Given the description of an element on the screen output the (x, y) to click on. 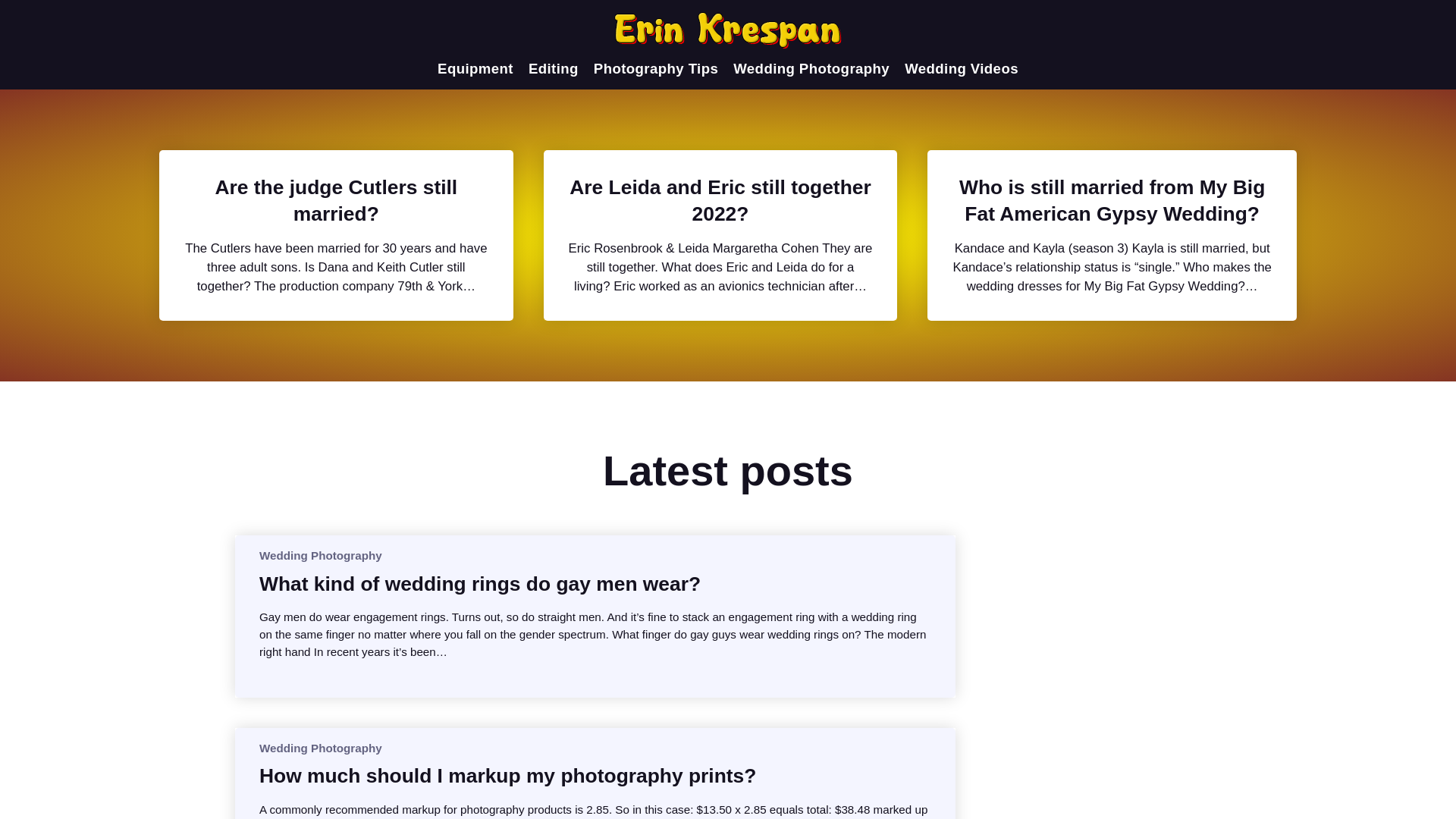
Wedding Videos (960, 68)
Are Leida and Eric still together 2022? (720, 200)
How much should I markup my photography prints? (507, 775)
Equipment (475, 68)
Wedding Photography (320, 554)
Photography Tips (655, 68)
Editing (553, 68)
Wedding Photography (811, 68)
Who is still married from My Big Fat American Gypsy Wedding? (1112, 200)
What kind of wedding rings do gay men wear? (479, 583)
Are the judge Cutlers still married? (336, 200)
Wedding Photography (320, 748)
